Given the description of an element on the screen output the (x, y) to click on. 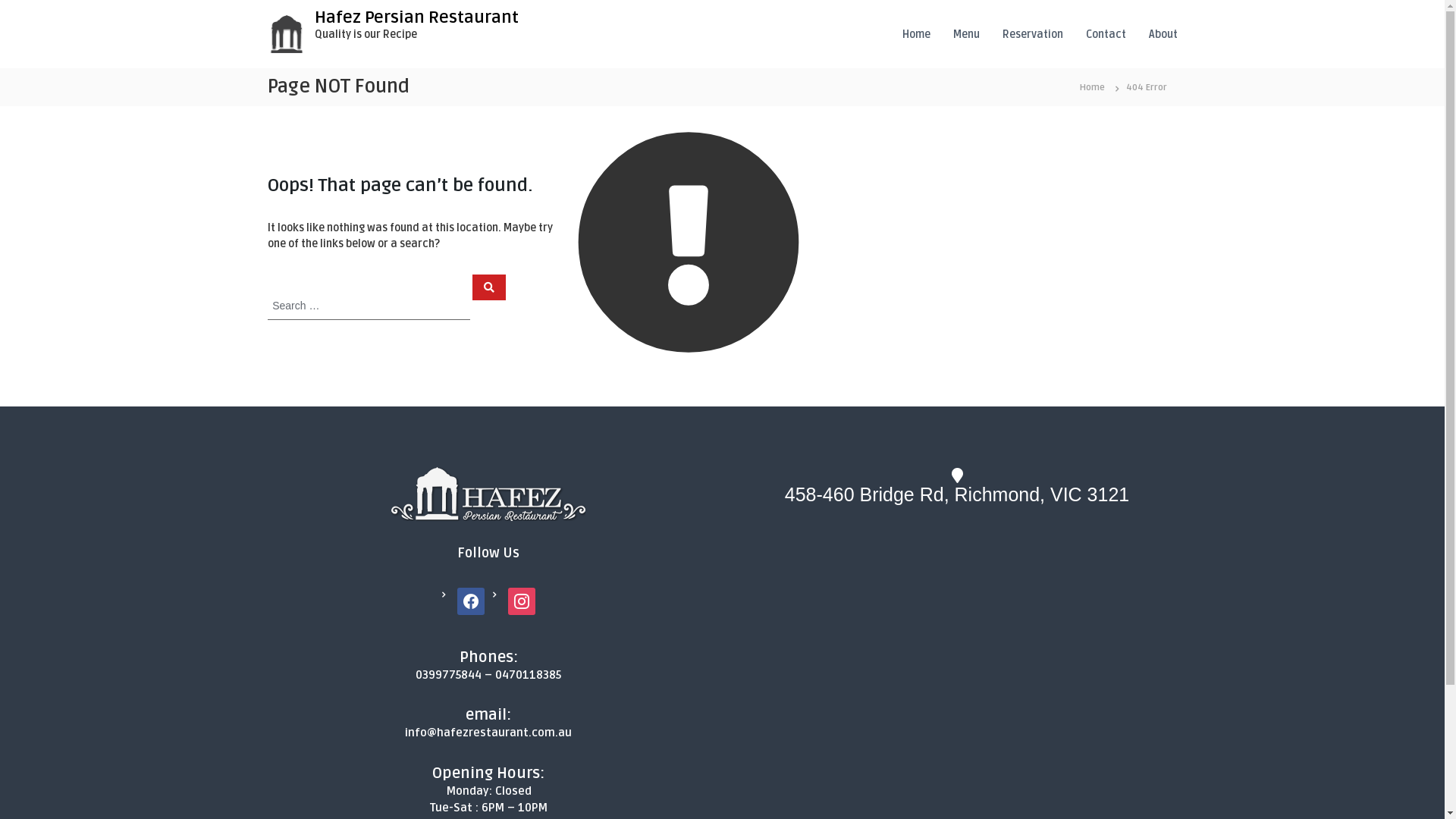
Search Element type: text (488, 287)
Hafez Persian Restaurant Element type: text (415, 17)
instagram Element type: text (521, 600)
About Element type: text (1162, 33)
0399775844 Element type: text (448, 673)
Home Element type: text (1092, 86)
Contact Element type: text (1105, 33)
Home Element type: text (916, 33)
Reservation Element type: text (1032, 33)
0470118385 Element type: text (528, 673)
info@hafezrestaurant.com.au Element type: text (487, 732)
facebook Element type: text (470, 600)
Menu Element type: text (965, 33)
